Given the description of an element on the screen output the (x, y) to click on. 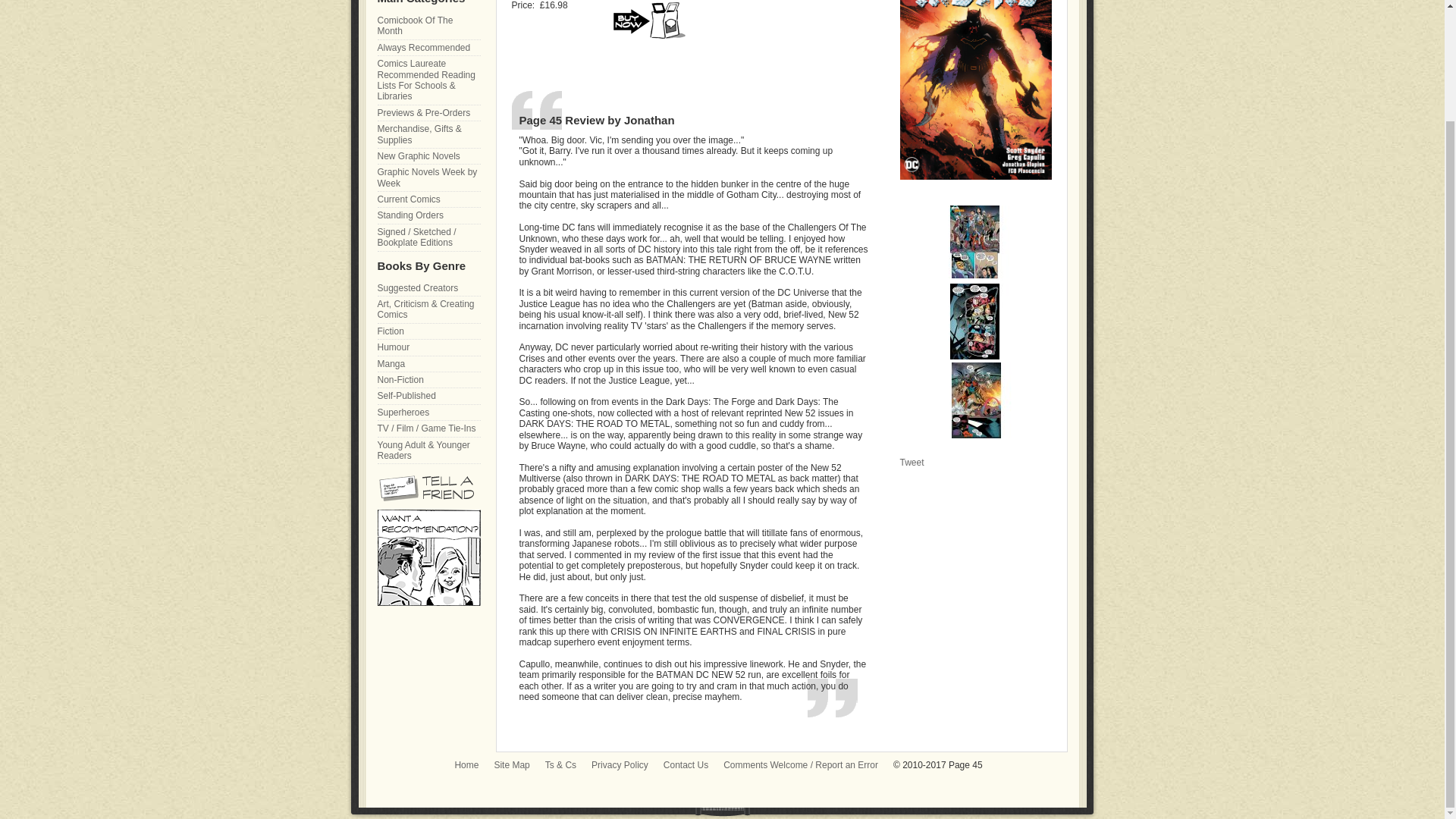
Privacy Policy (619, 765)
Humour (428, 347)
Standing Orders (428, 215)
Always Recommended (428, 48)
Fiction (428, 331)
Graphic Novels Week by Week (428, 177)
Self-Published (428, 396)
Manga (428, 364)
Ask Page 45 for a recommendation (428, 602)
Non-Fiction (428, 380)
New Graphic Novels (428, 156)
Contact Us (685, 765)
Home (466, 765)
Current Comics (428, 199)
Site Map (511, 765)
